Given the description of an element on the screen output the (x, y) to click on. 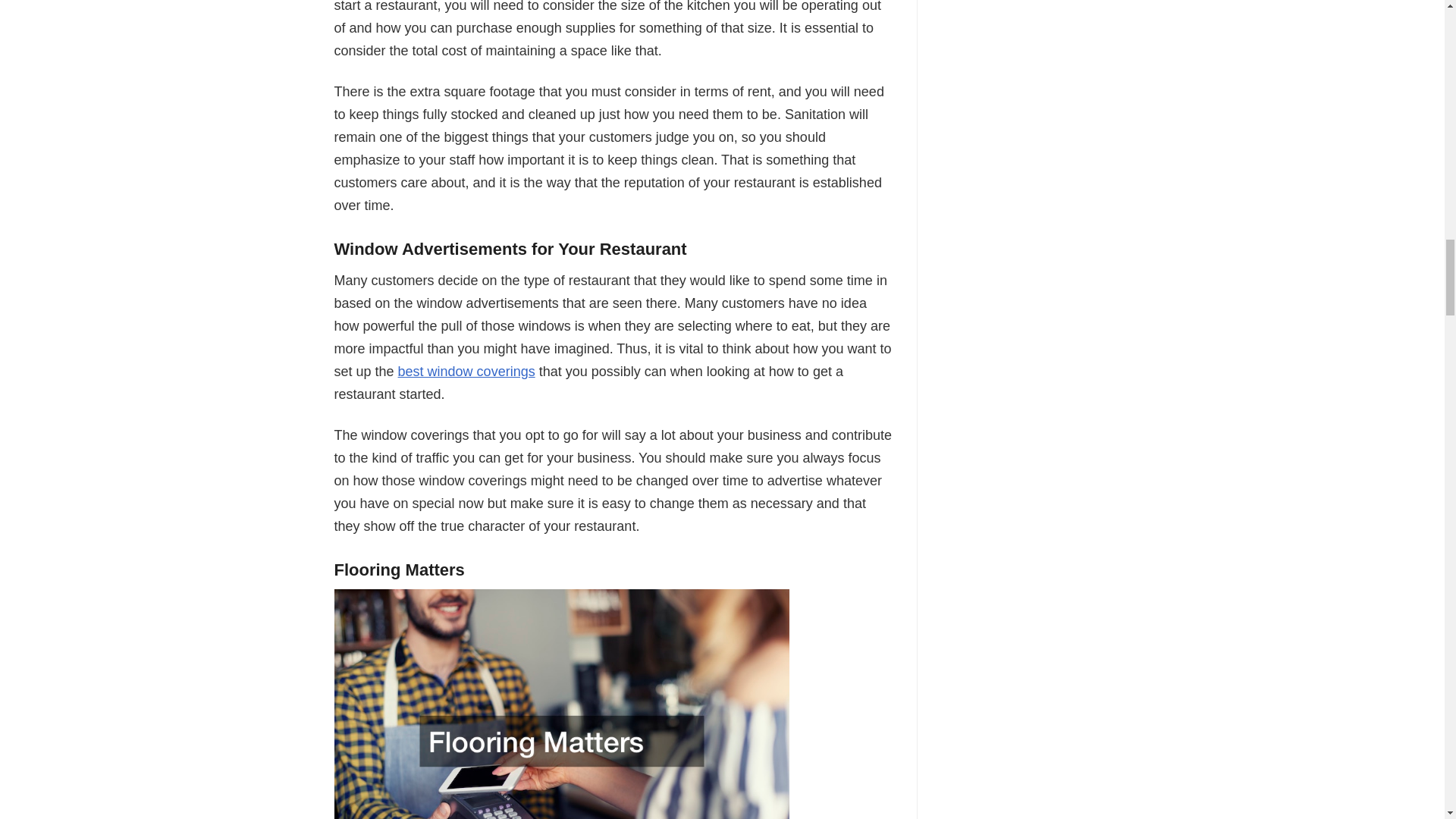
best window coverings (466, 371)
